Given the description of an element on the screen output the (x, y) to click on. 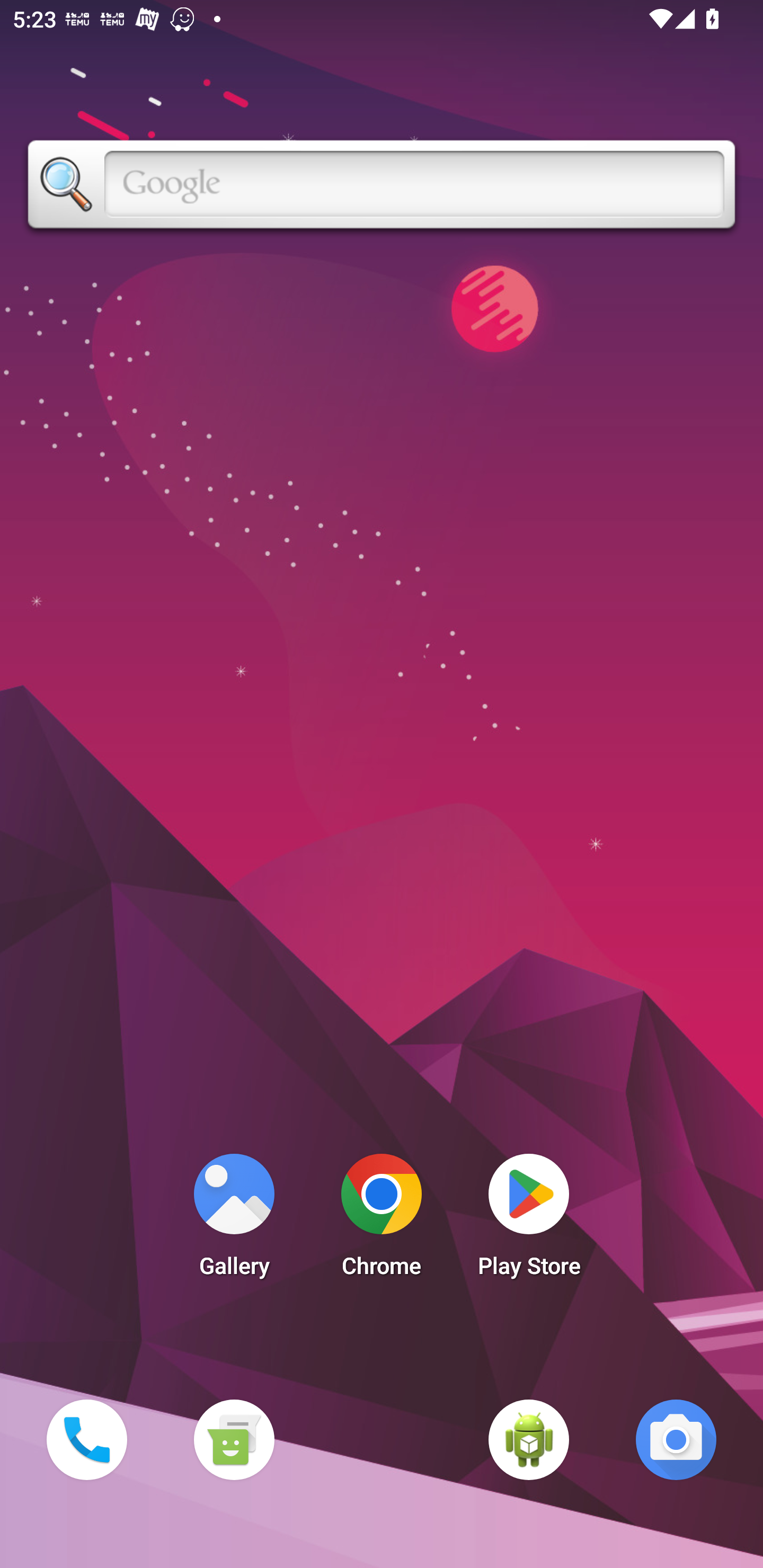
Gallery (233, 1220)
Chrome (381, 1220)
Play Store (528, 1220)
Phone (86, 1439)
Messaging (233, 1439)
WebView Browser Tester (528, 1439)
Camera (676, 1439)
